Given the description of an element on the screen output the (x, y) to click on. 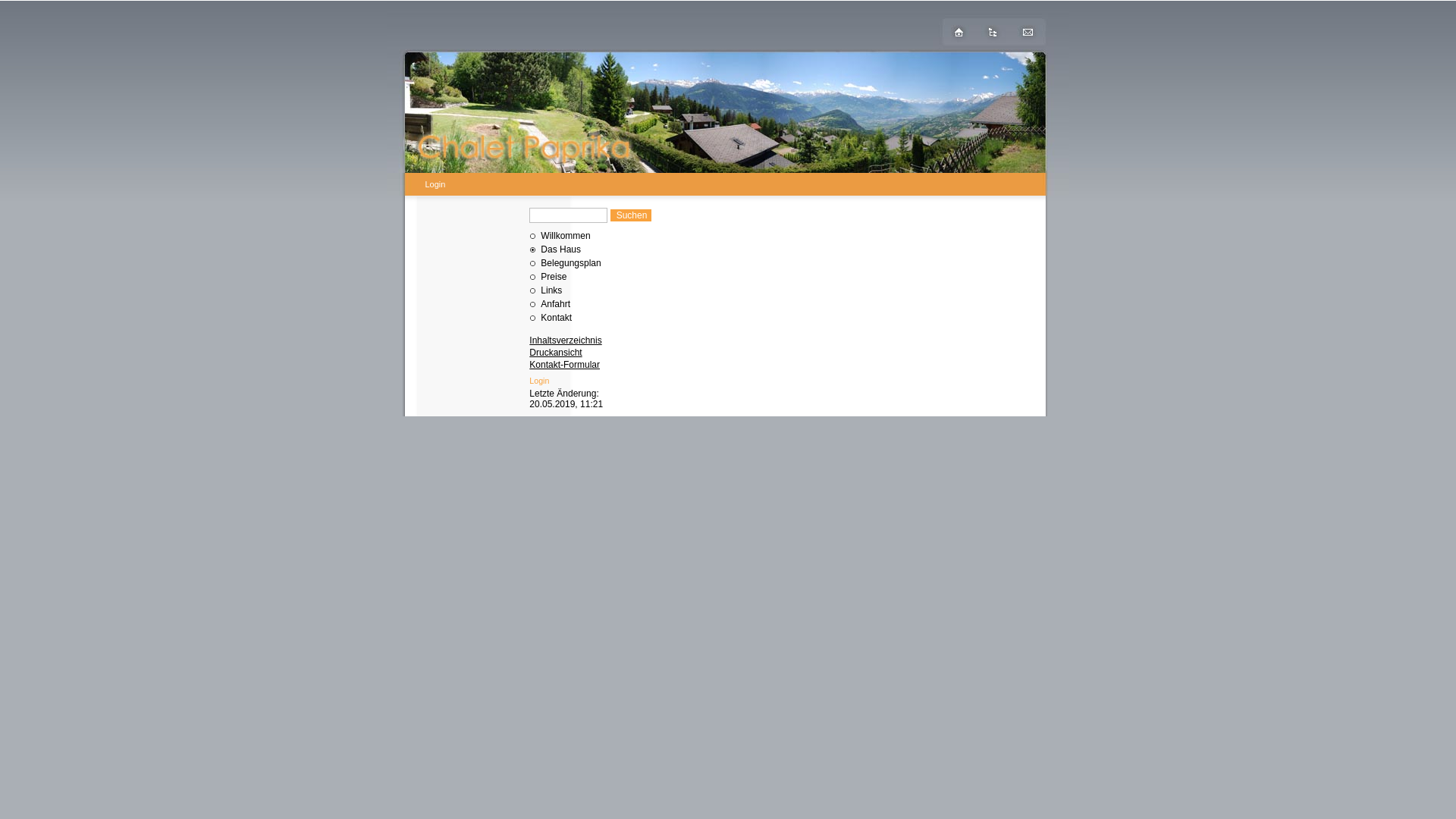
Belegungsplan Element type: text (570, 262)
Preise Element type: text (553, 276)
Kontakt-Formular Element type: text (564, 364)
Login Element type: text (539, 380)
Druckansicht Element type: text (555, 352)
Das Haus Element type: text (560, 249)
Suchen Element type: text (631, 215)
Anfahrt Element type: text (555, 303)
Links Element type: text (550, 290)
Inhaltsverzeichnis Element type: text (565, 340)
Willkommen Element type: text (564, 235)
Kontakt Element type: text (555, 317)
